Given the description of an element on the screen output the (x, y) to click on. 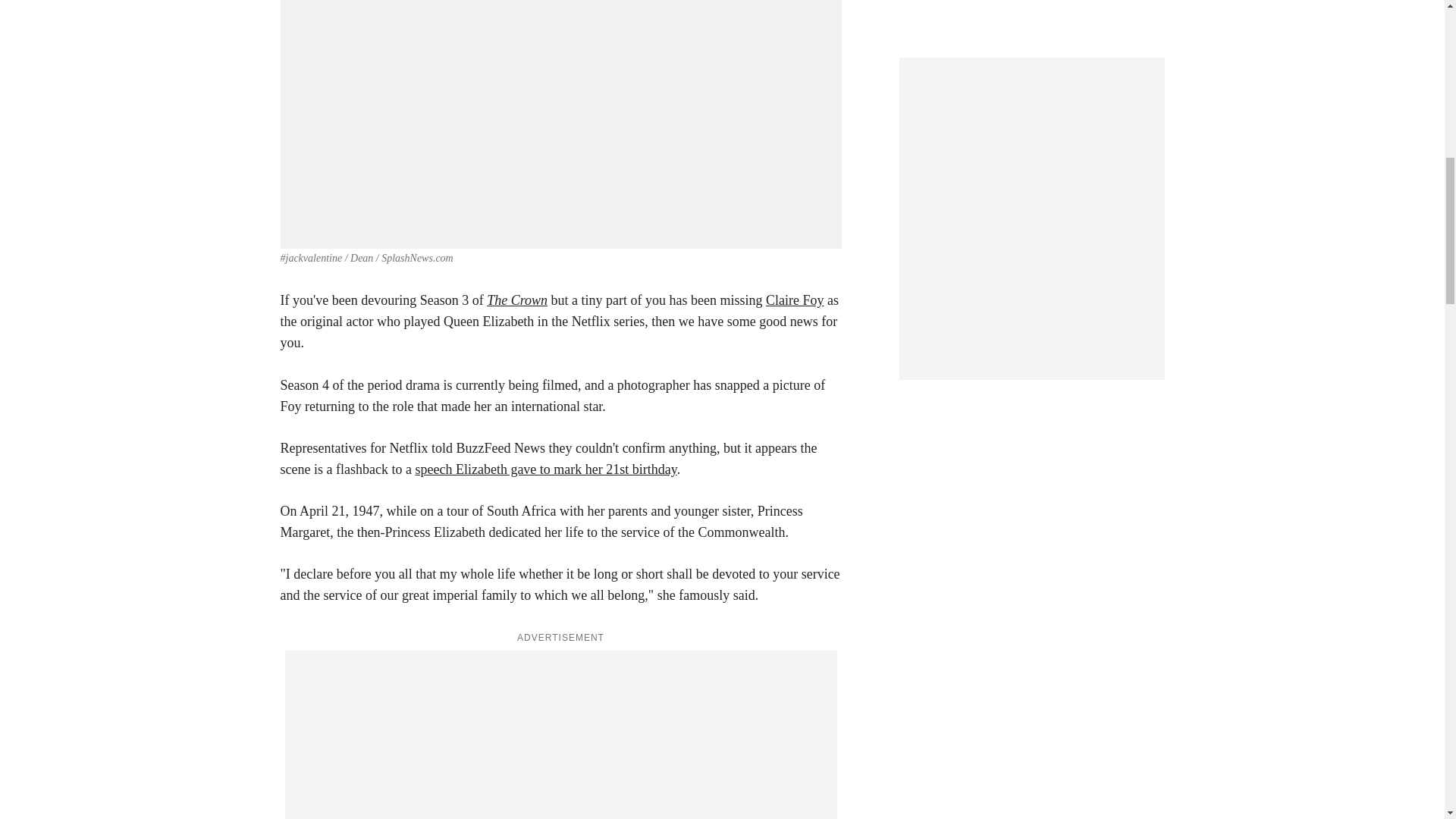
speech Elizabeth gave to mark her 21st birthday (545, 468)
Claire Foy (794, 299)
The Crown (516, 299)
SplashNews.com (416, 257)
